Given the description of an element on the screen output the (x, y) to click on. 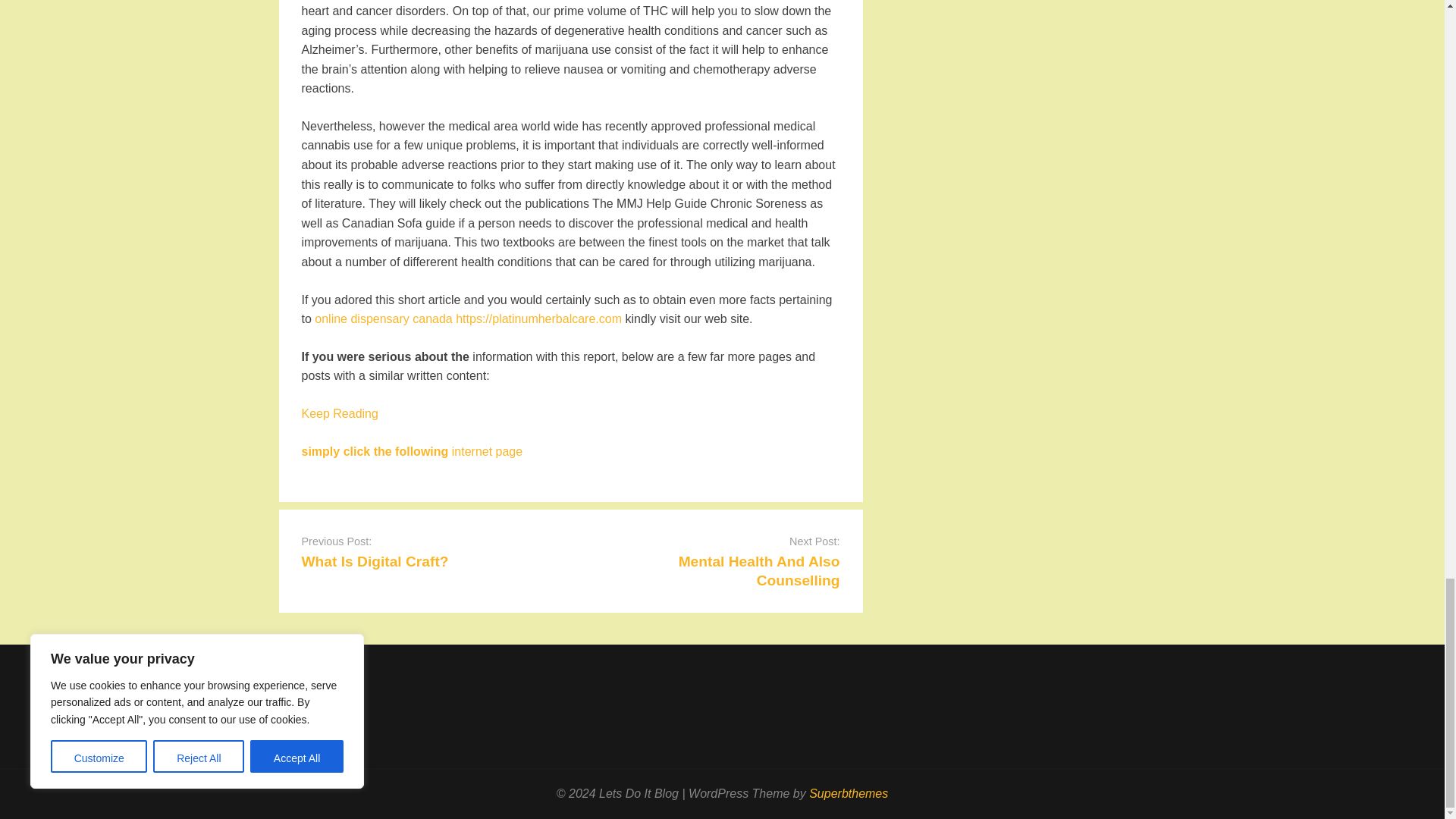
simply click the following internet page (411, 451)
What Is Digital Craft? (374, 561)
Keep Reading (339, 413)
Mental Health And Also Counselling (759, 570)
